Given the description of an element on the screen output the (x, y) to click on. 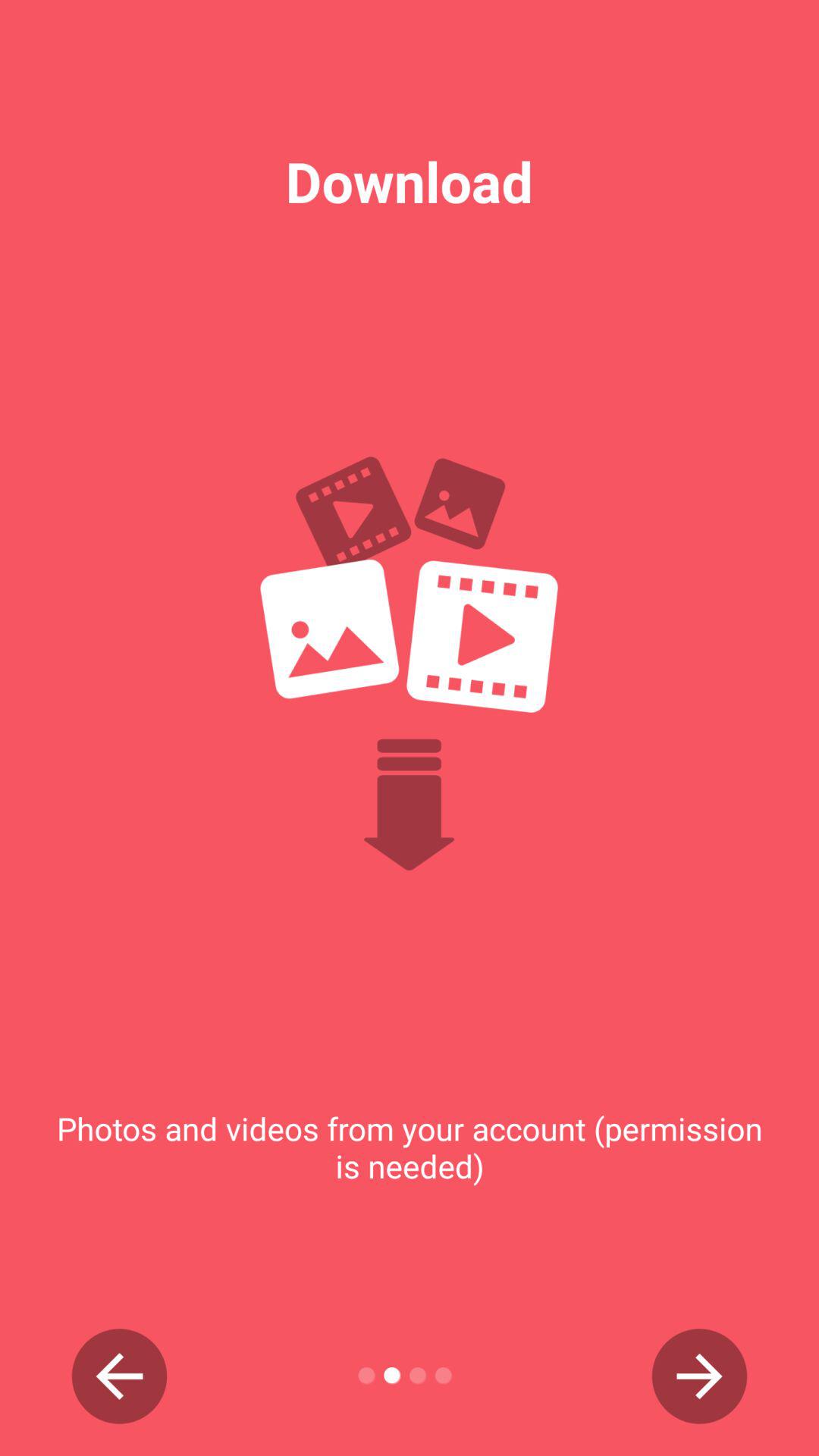
go to next (699, 1376)
